Given the description of an element on the screen output the (x, y) to click on. 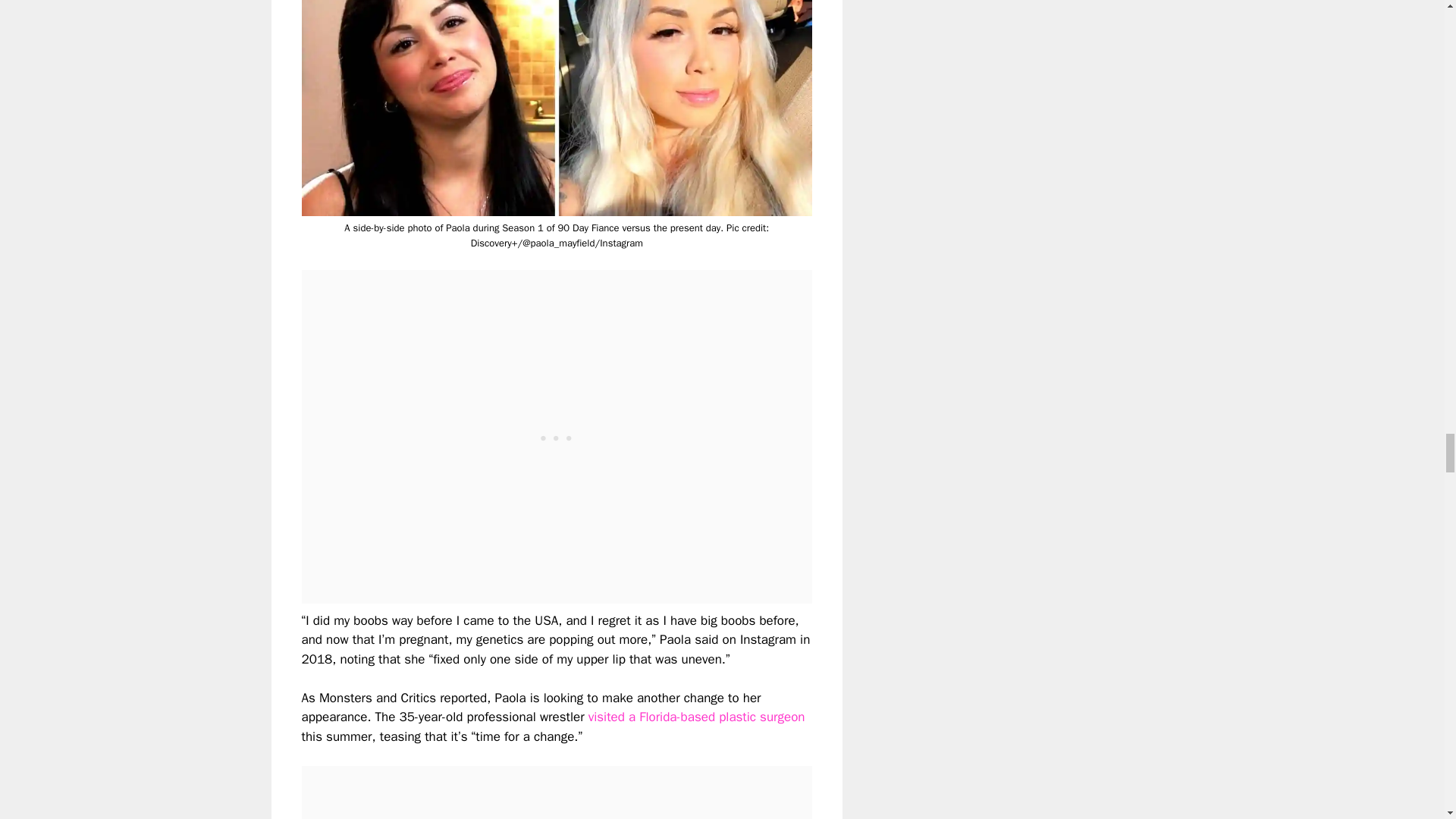
visited a Florida-based plastic surgeon (696, 716)
